Given the description of an element on the screen output the (x, y) to click on. 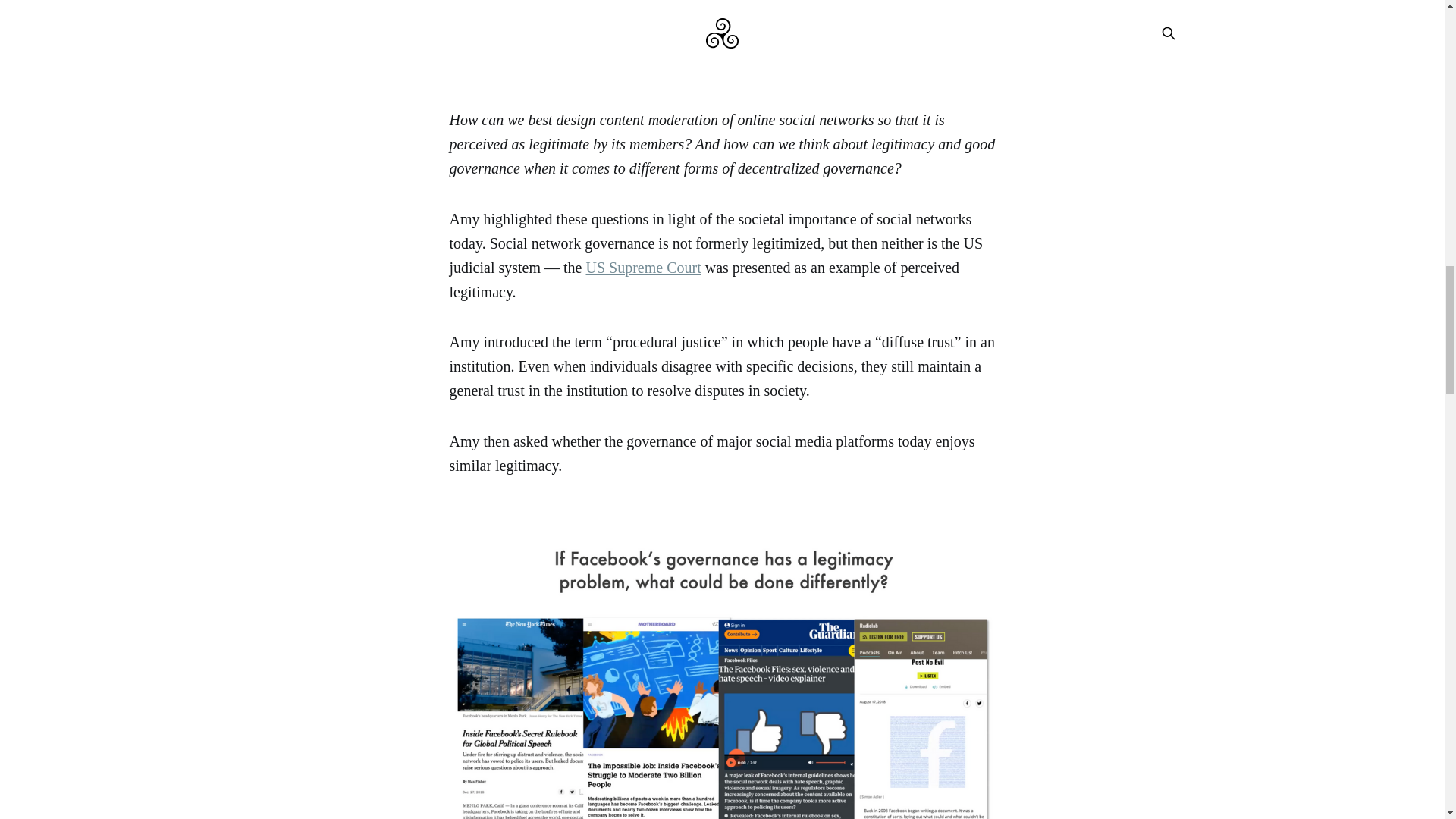
US Supreme Court (642, 267)
